Given the description of an element on the screen output the (x, y) to click on. 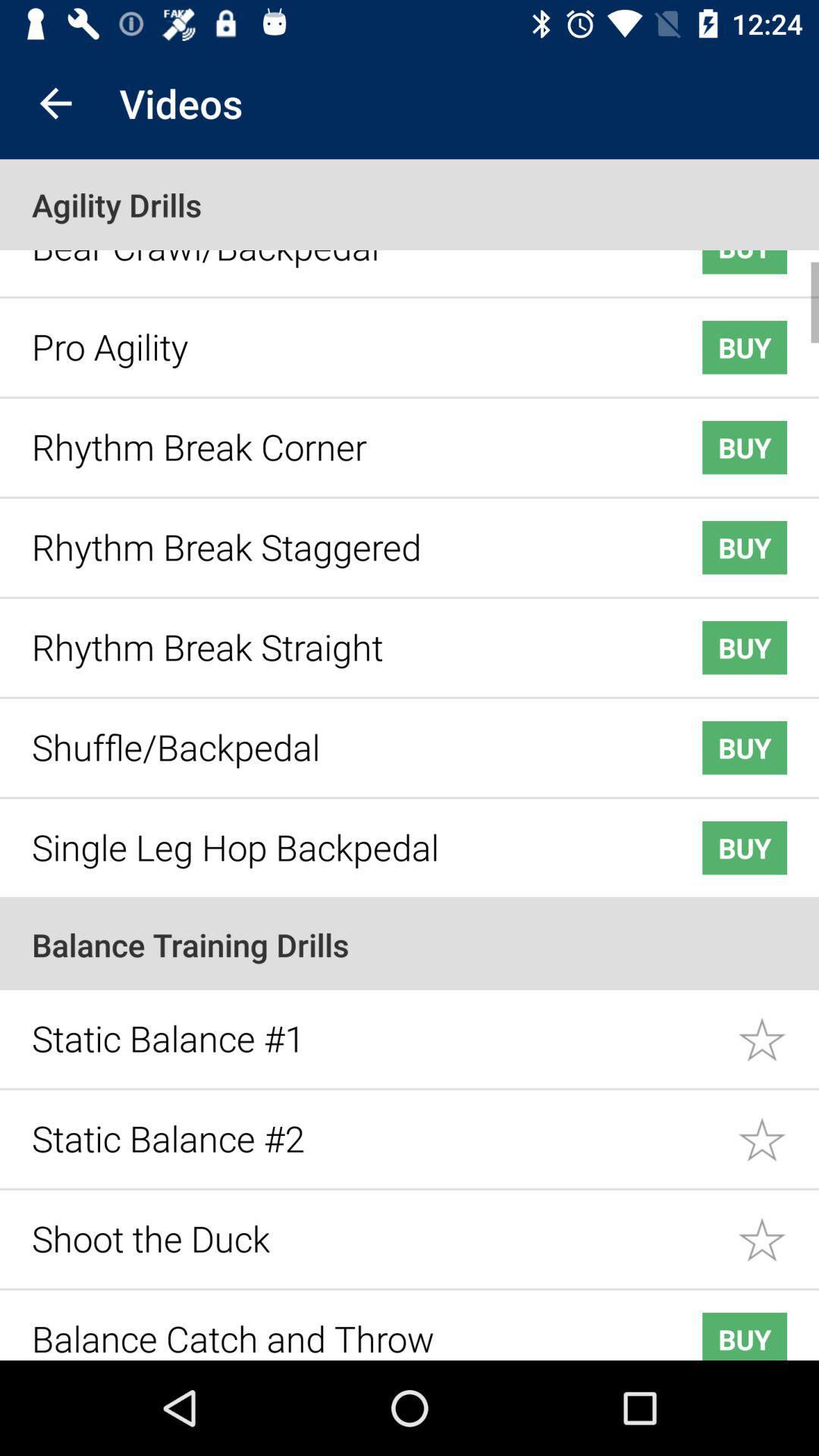
open the icon next to the buy icon (342, 836)
